Given the description of an element on the screen output the (x, y) to click on. 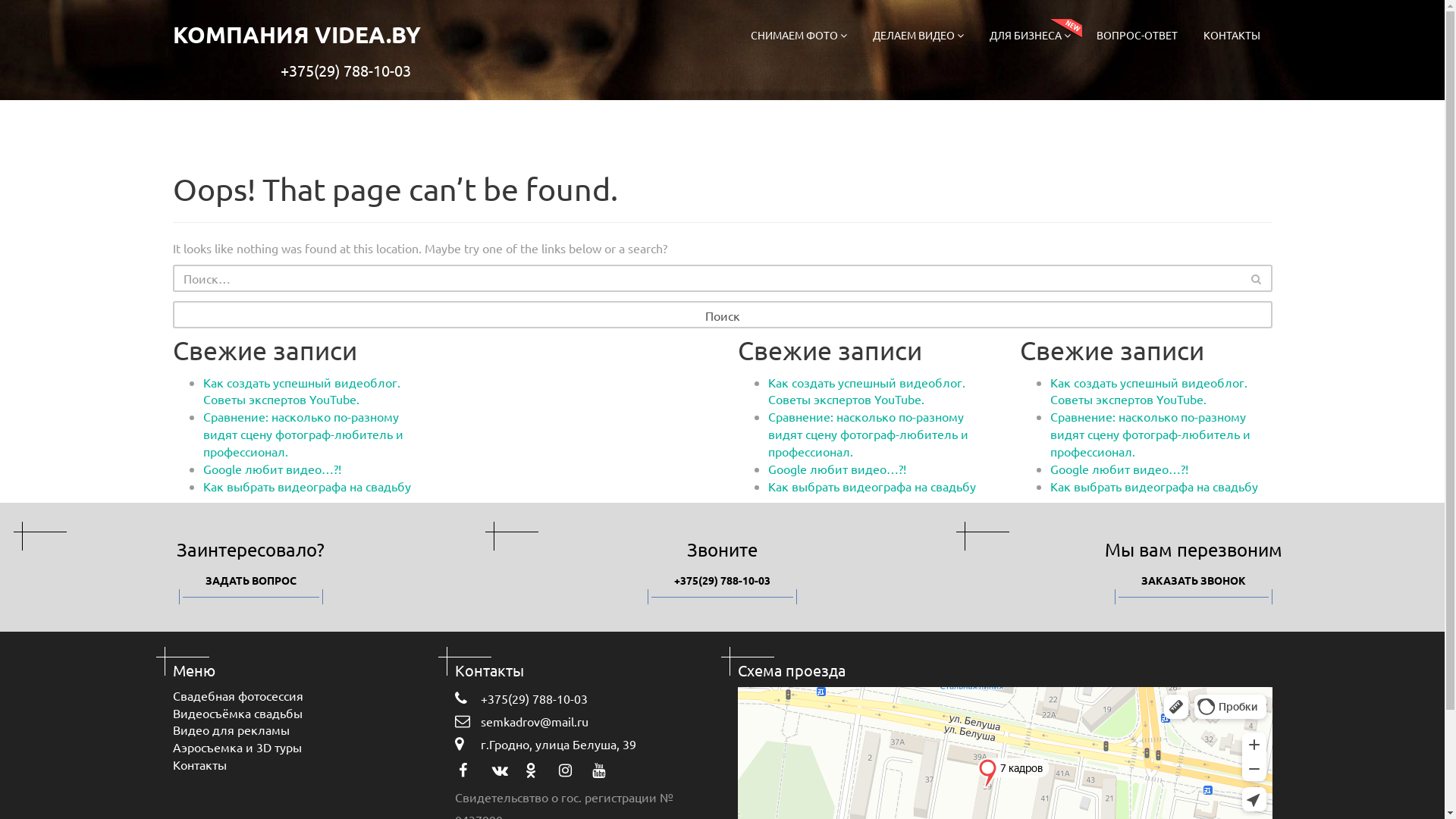
+375(29) 788-10-03 Element type: text (345, 70)
+375(29) 788-10-03 Element type: text (722, 580)
semkadrov@mail.ru Element type: text (581, 720)
+375(29) 788-10-03 Element type: text (581, 698)
